Given the description of an element on the screen output the (x, y) to click on. 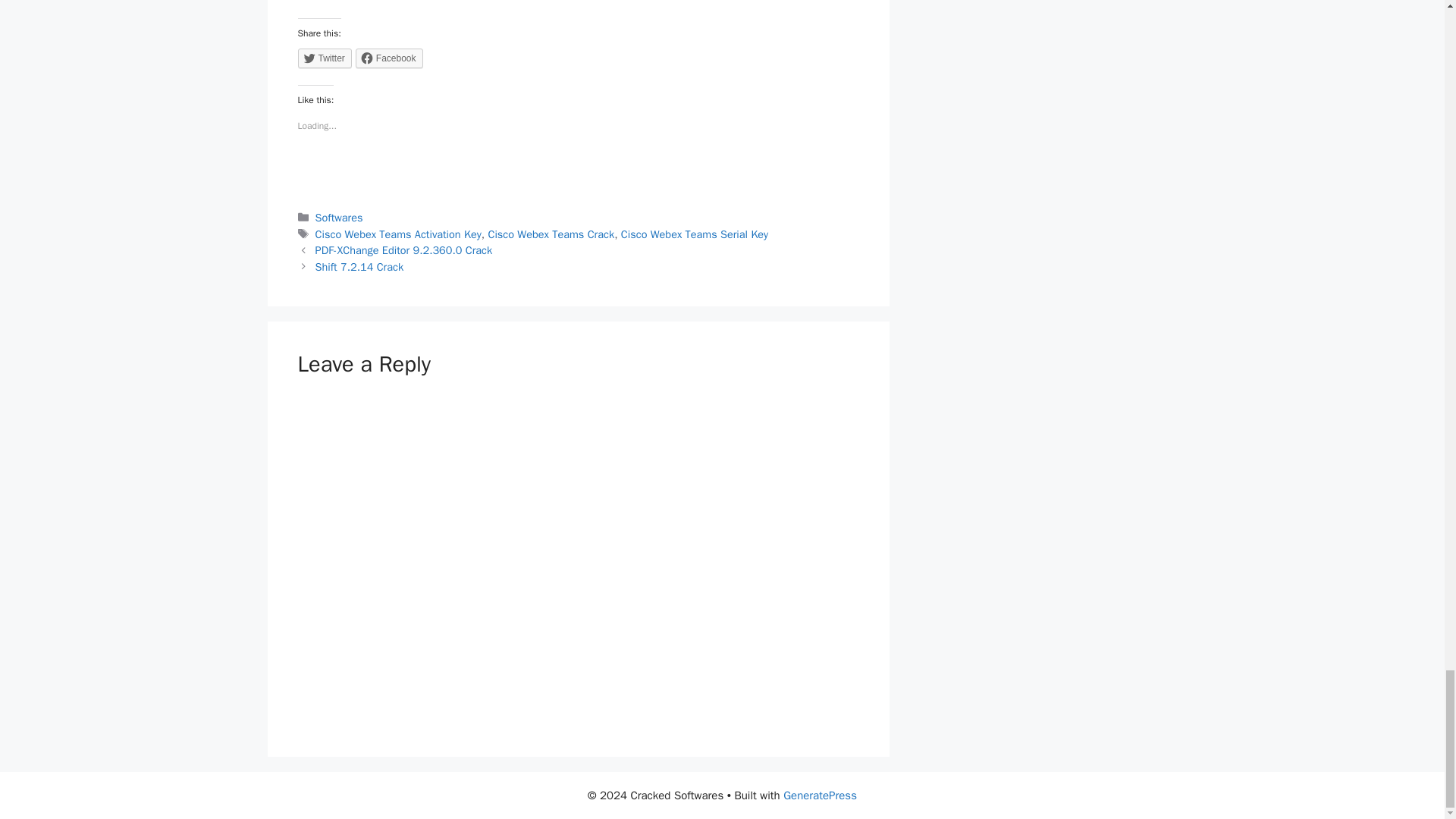
Softwares (338, 217)
Facebook (389, 57)
Cisco Webex Teams Activation Key (398, 233)
Cisco Webex Teams Crack (550, 233)
Previous (404, 250)
Download Link (577, 1)
Next (359, 266)
PDF-XChange Editor 9.2.360.0 Crack (404, 250)
Shift 7.2.14 Crack (359, 266)
